Given the description of an element on the screen output the (x, y) to click on. 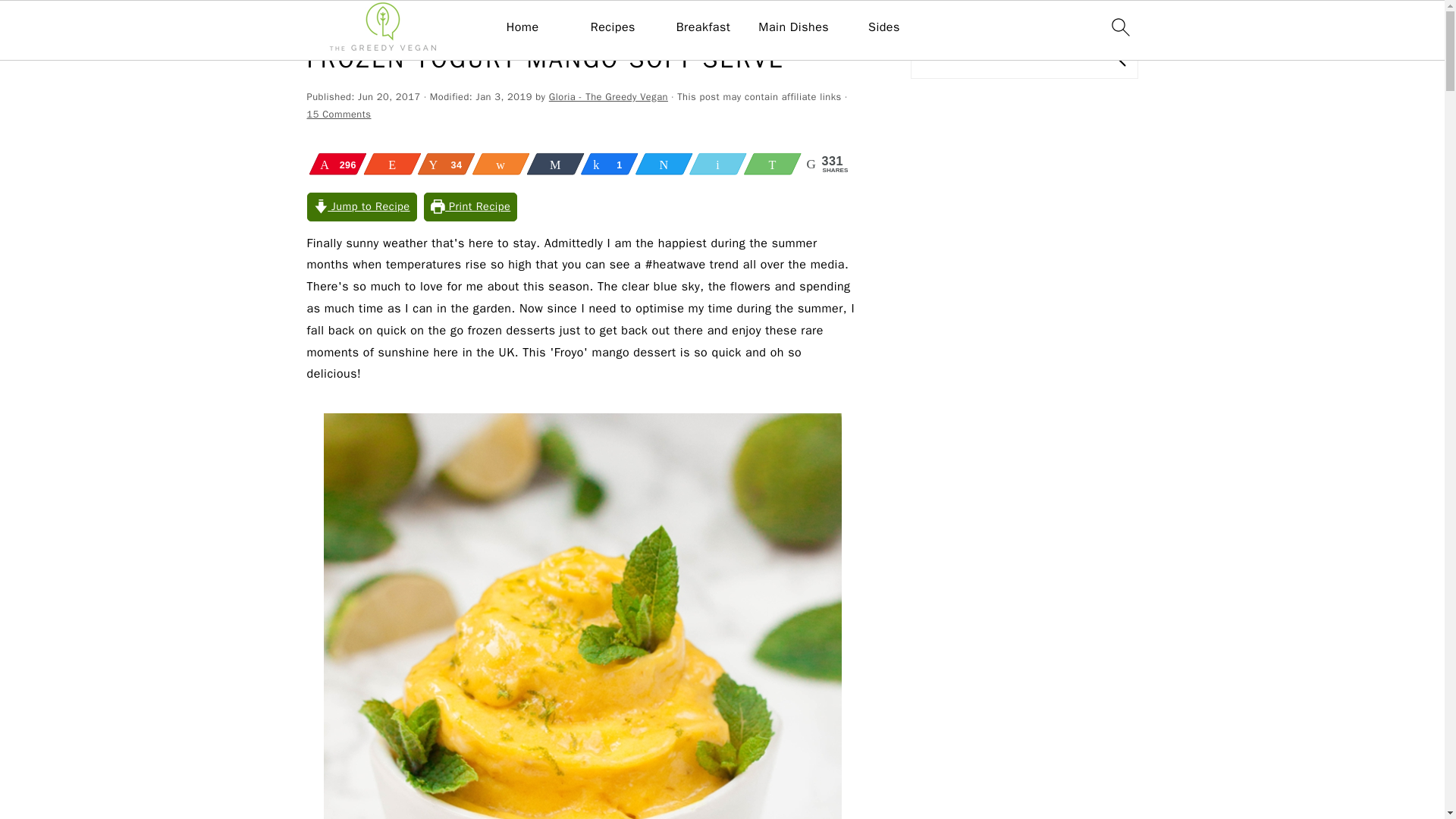
search icon (1119, 26)
Gloria - The Greedy Vegan (608, 96)
Breakfast (703, 27)
Main Dishes (793, 27)
Advertisement (1023, 734)
1 (611, 164)
15 Comments (338, 114)
Recipes (612, 27)
Sides (883, 27)
Jump to Recipe (360, 206)
Home (319, 23)
34 (448, 164)
296 (339, 164)
Home (522, 27)
